Given the description of an element on the screen output the (x, y) to click on. 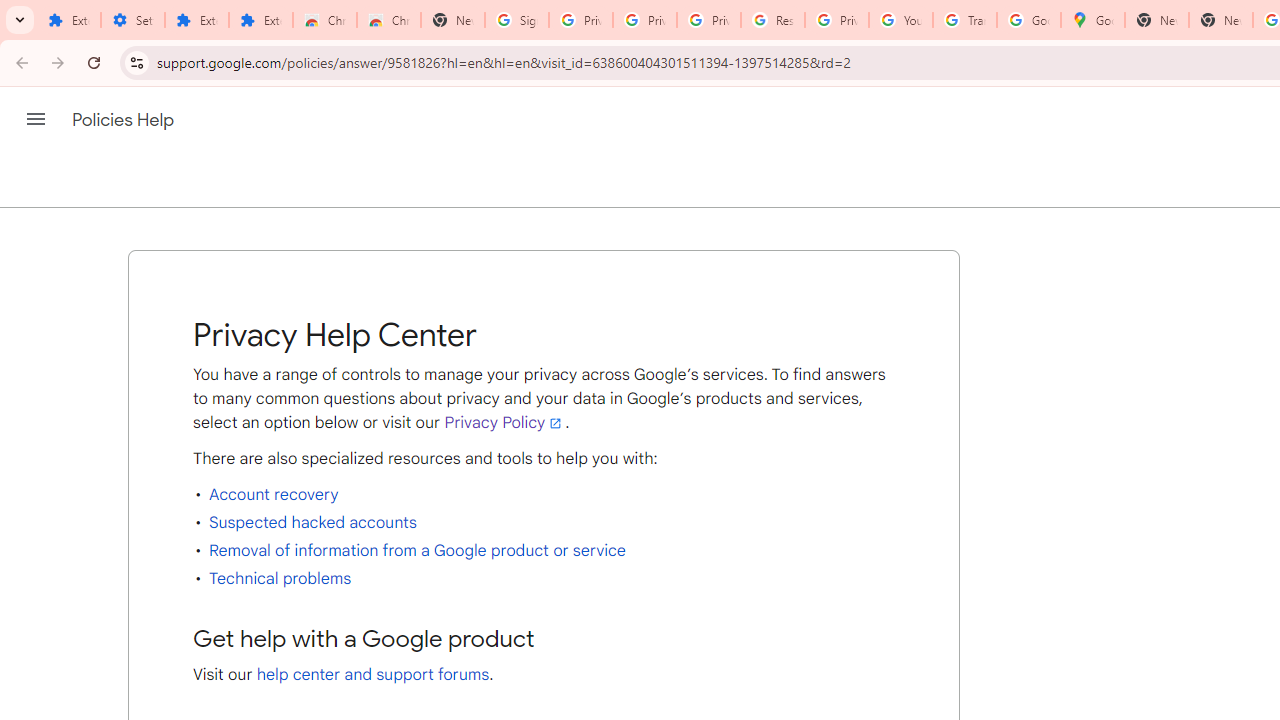
Extensions (261, 20)
Extensions (197, 20)
Technical problems (280, 578)
